Given the description of an element on the screen output the (x, y) to click on. 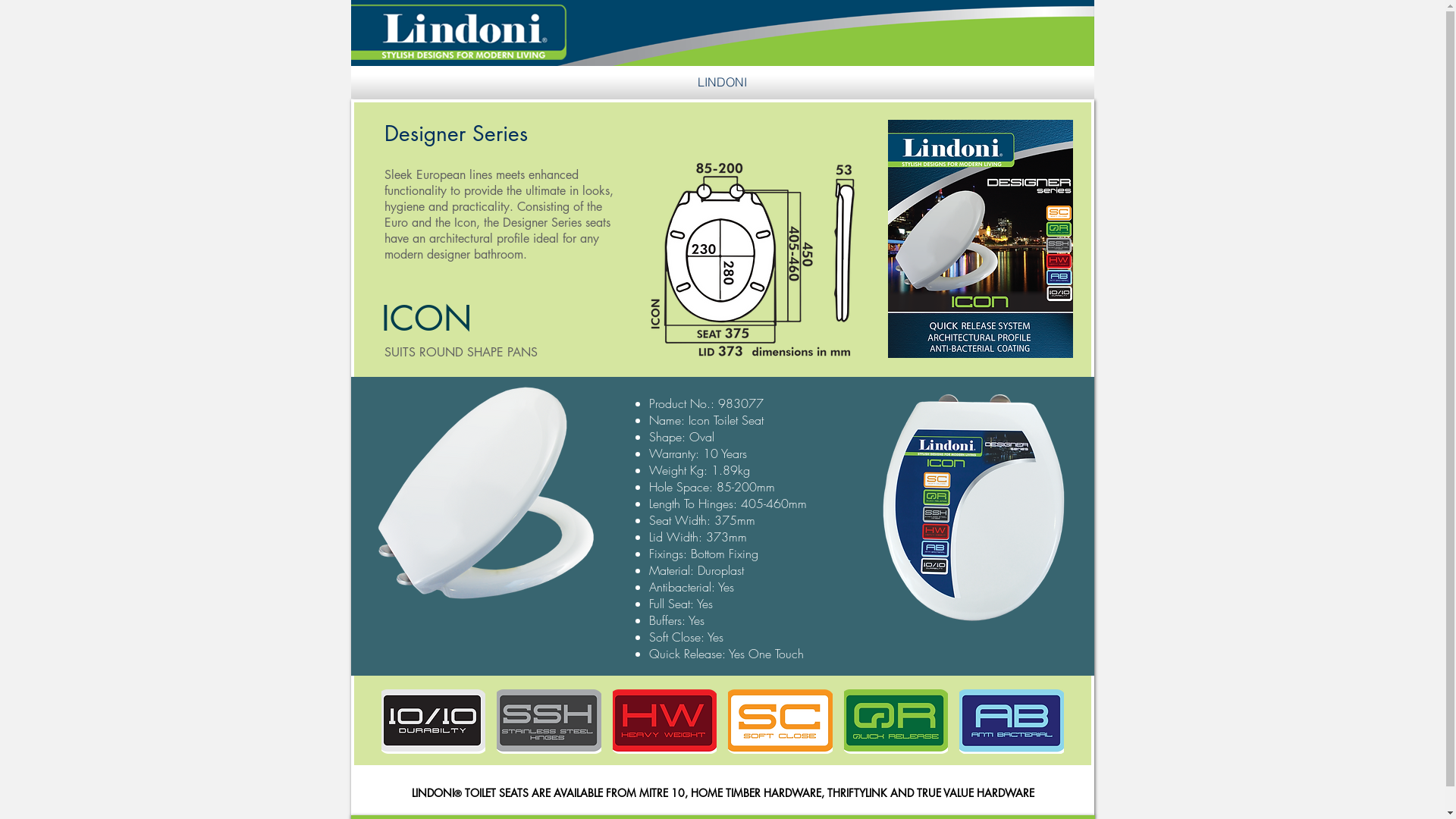
LINDONI Element type: text (721, 81)
